Given the description of an element on the screen output the (x, y) to click on. 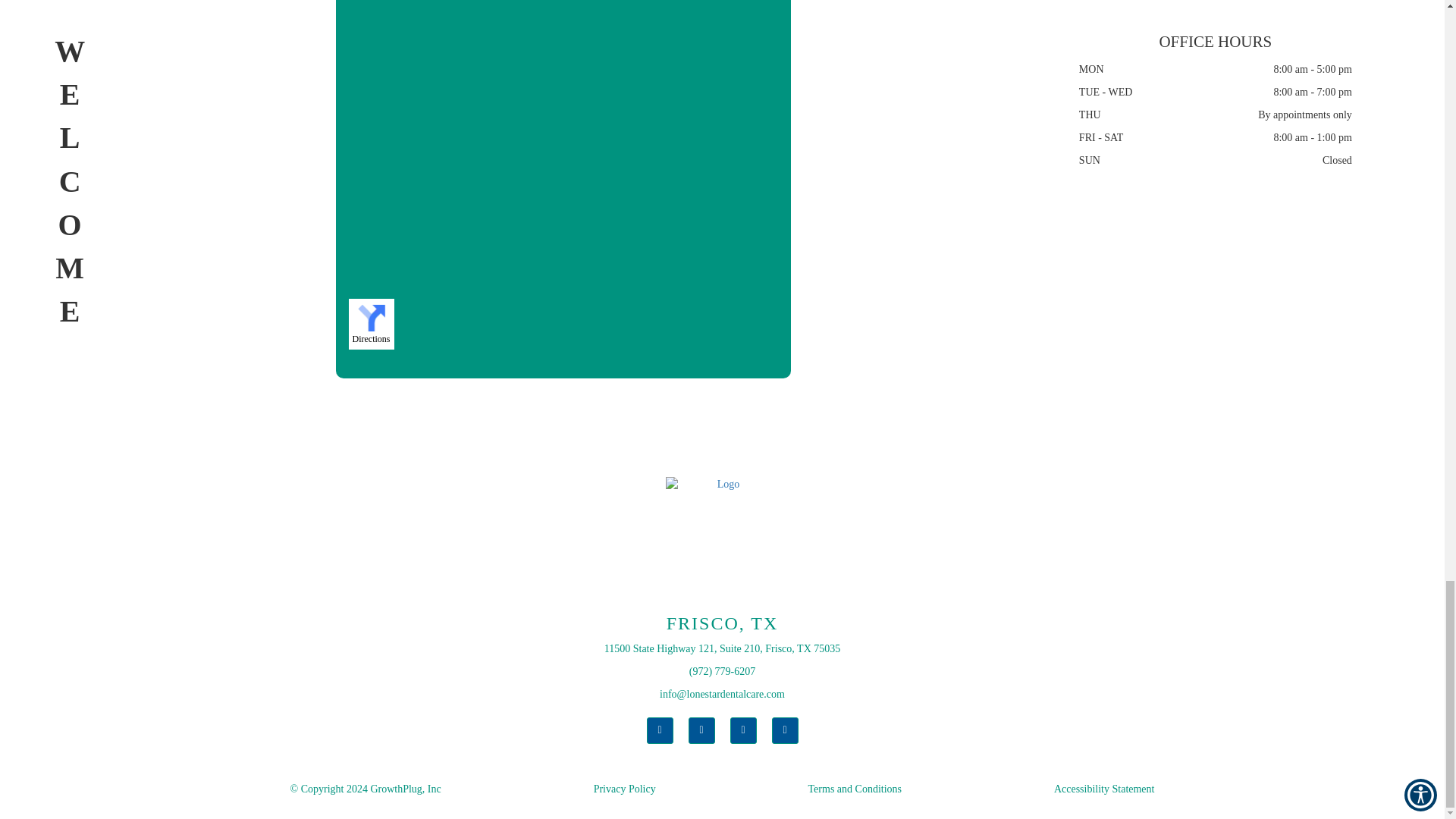
Logo (721, 533)
